Given the description of an element on the screen output the (x, y) to click on. 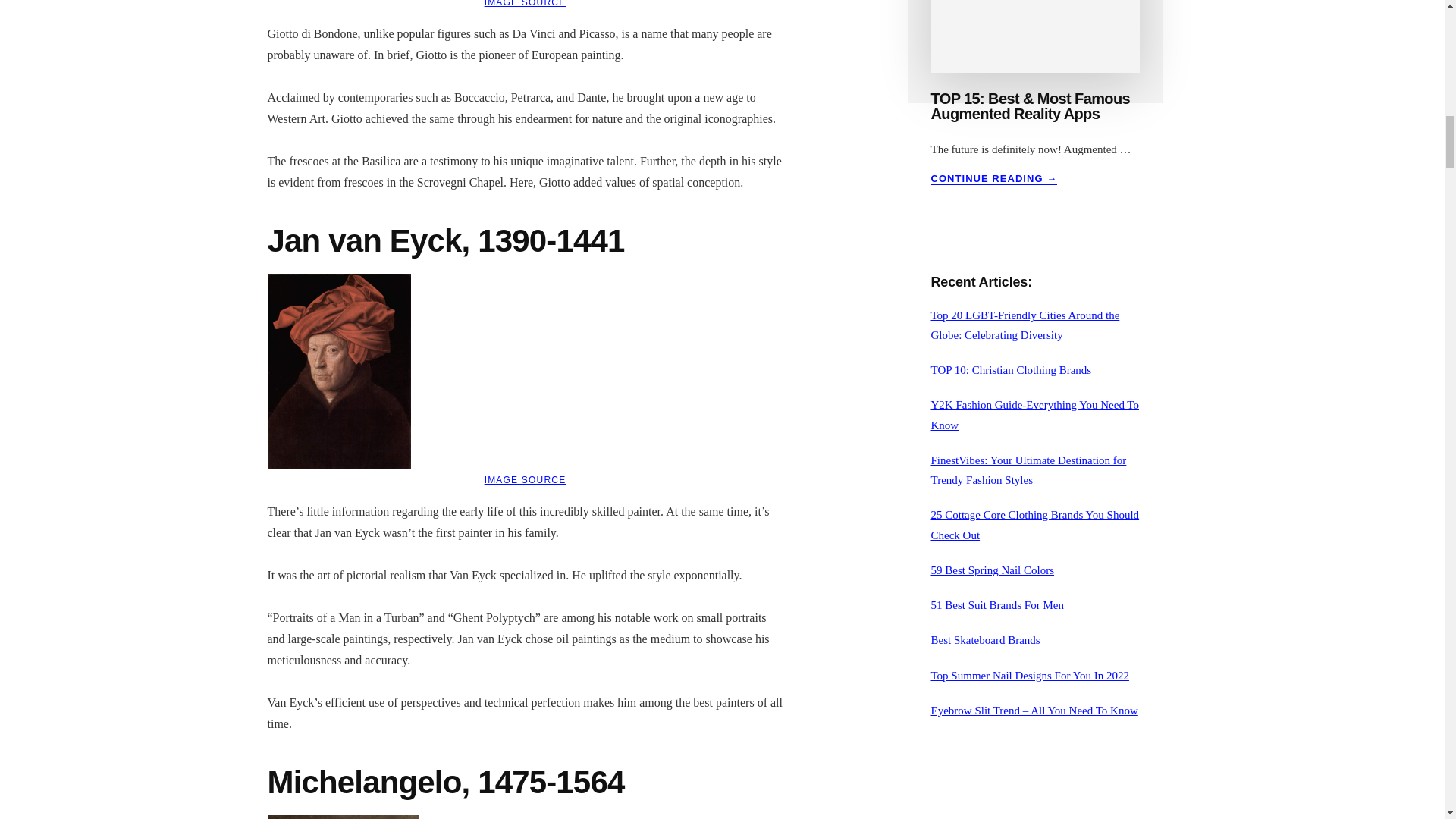
IMAGE SOURCE (525, 480)
IMAGE SOURCE (525, 3)
